Given the description of an element on the screen output the (x, y) to click on. 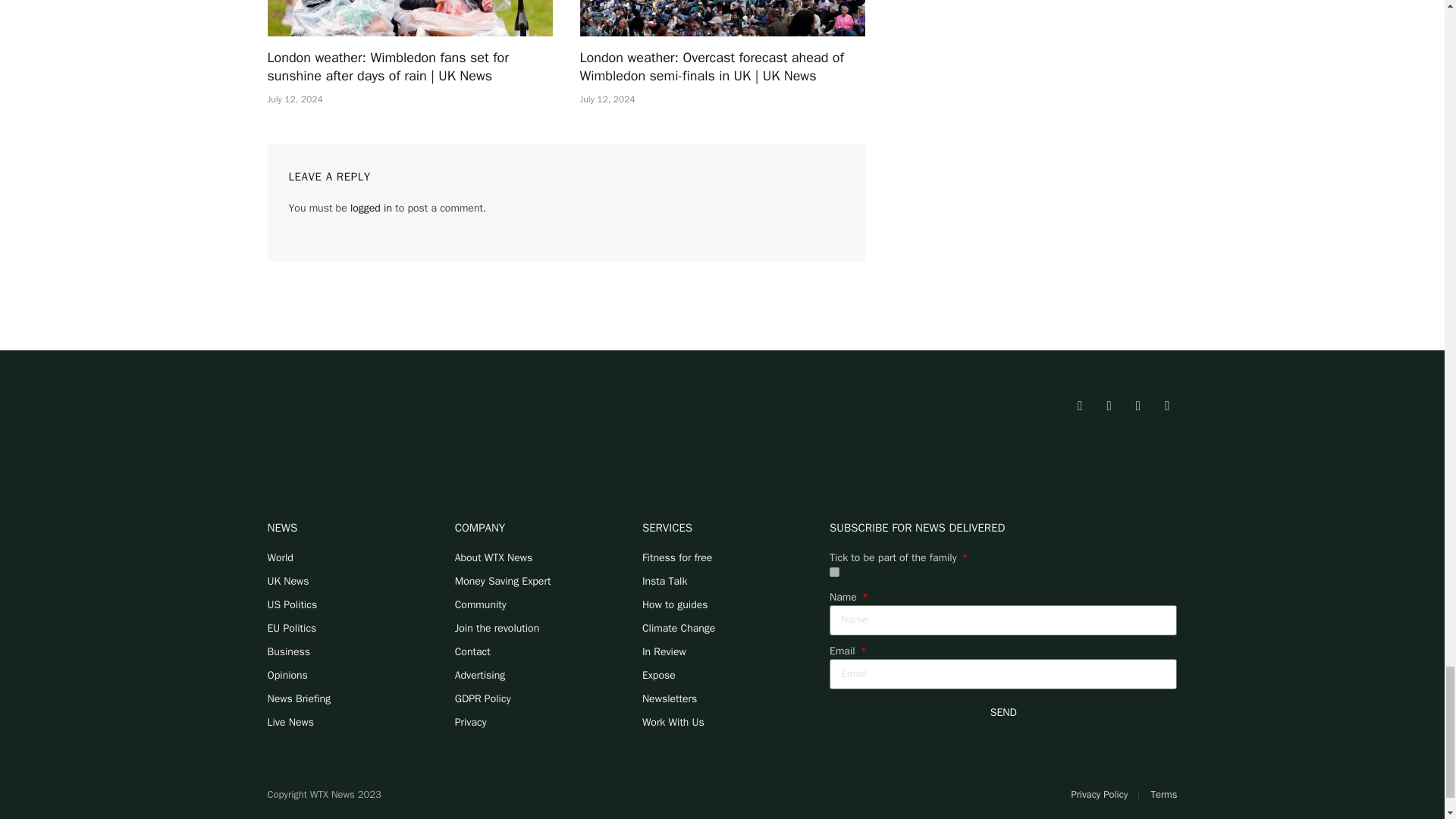
on (834, 572)
